Given the description of an element on the screen output the (x, y) to click on. 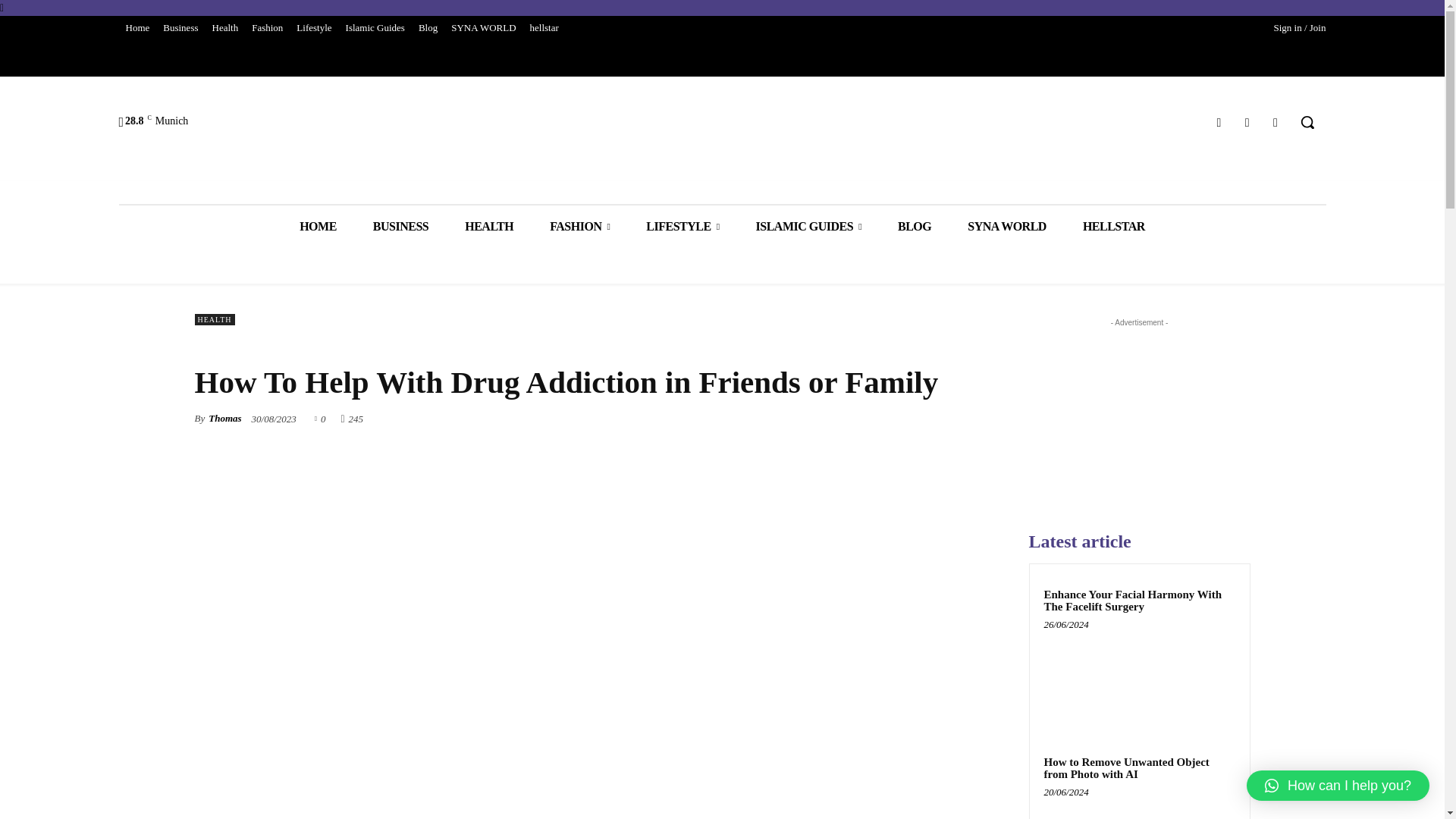
Lifestyle (313, 27)
Twitter (1246, 122)
Youtube (1275, 122)
SYNA WORLD (483, 27)
Islamic Guides (375, 27)
Business (180, 27)
Home (136, 27)
Facebook (1218, 122)
Health (225, 27)
hellstar (544, 27)
Blog (428, 27)
HOME (318, 226)
FASHION (579, 226)
BUSINESS (400, 226)
HEALTH (488, 226)
